Given the description of an element on the screen output the (x, y) to click on. 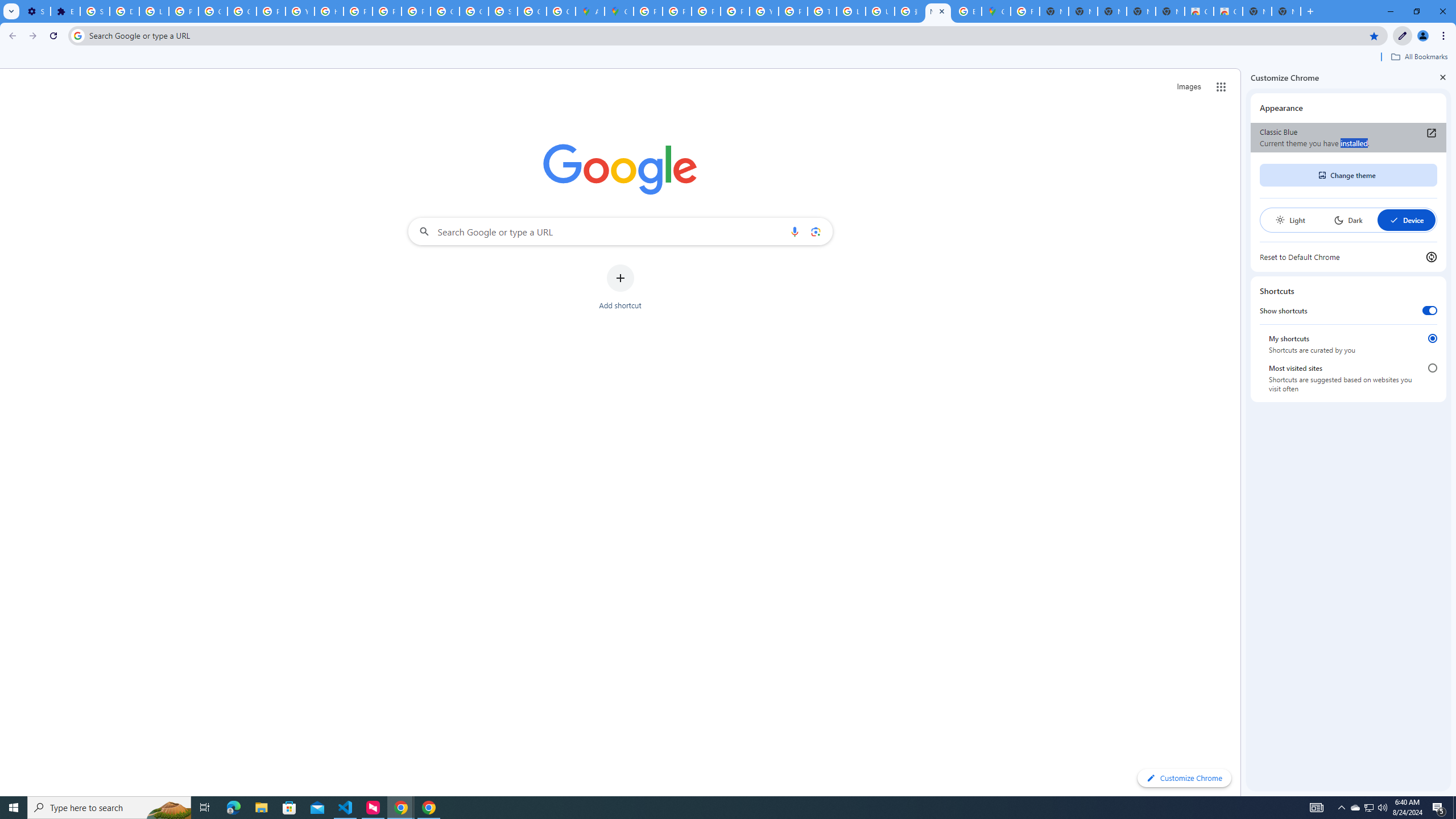
Tips & tricks for Chrome - Google Chrome Help (821, 11)
Privacy Help Center - Policies Help (705, 11)
Google Maps (996, 11)
New Tab (1286, 11)
Reset to Default Chrome (1347, 256)
Classic Blue - Chrome Web Store (1227, 11)
Change theme (1348, 174)
Create your Google Account (560, 11)
